Given the description of an element on the screen output the (x, y) to click on. 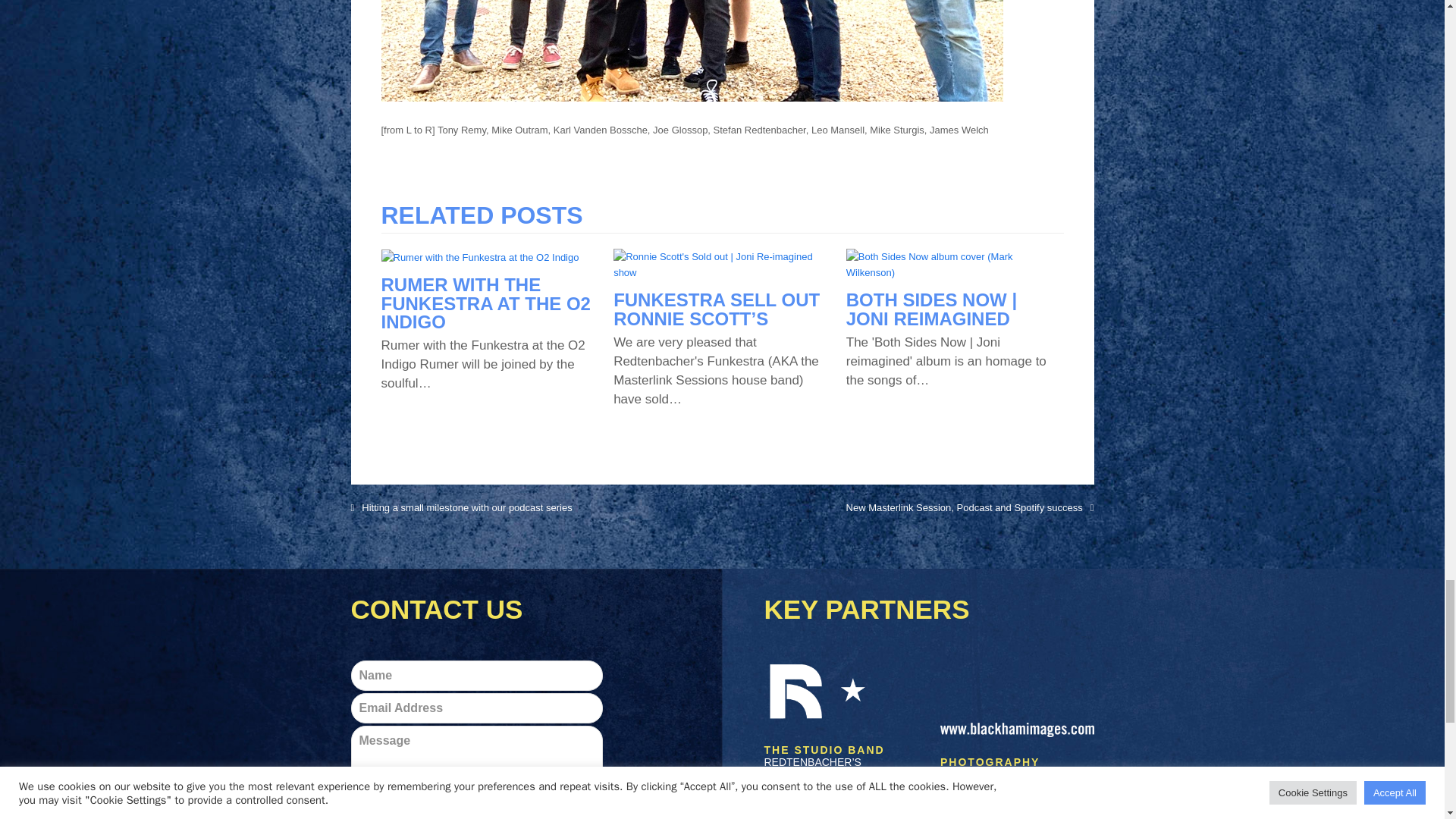
Rumer with the Funkestra at the O2 Indigo (479, 256)
RUMER WITH THE FUNKESTRA AT THE O2 INDIGO (484, 303)
